Given the description of an element on the screen output the (x, y) to click on. 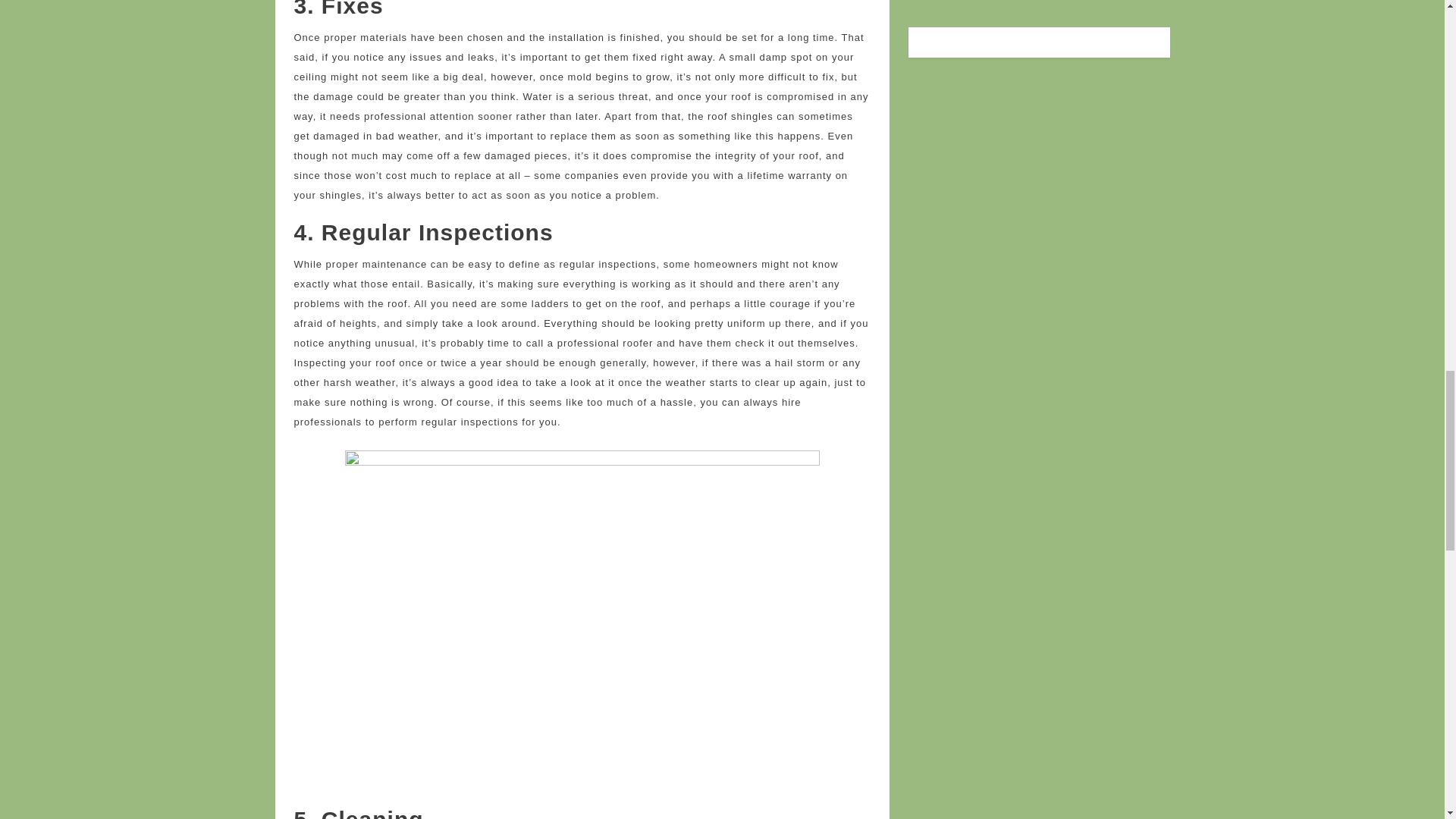
damp spot (786, 57)
